Given the description of an element on the screen output the (x, y) to click on. 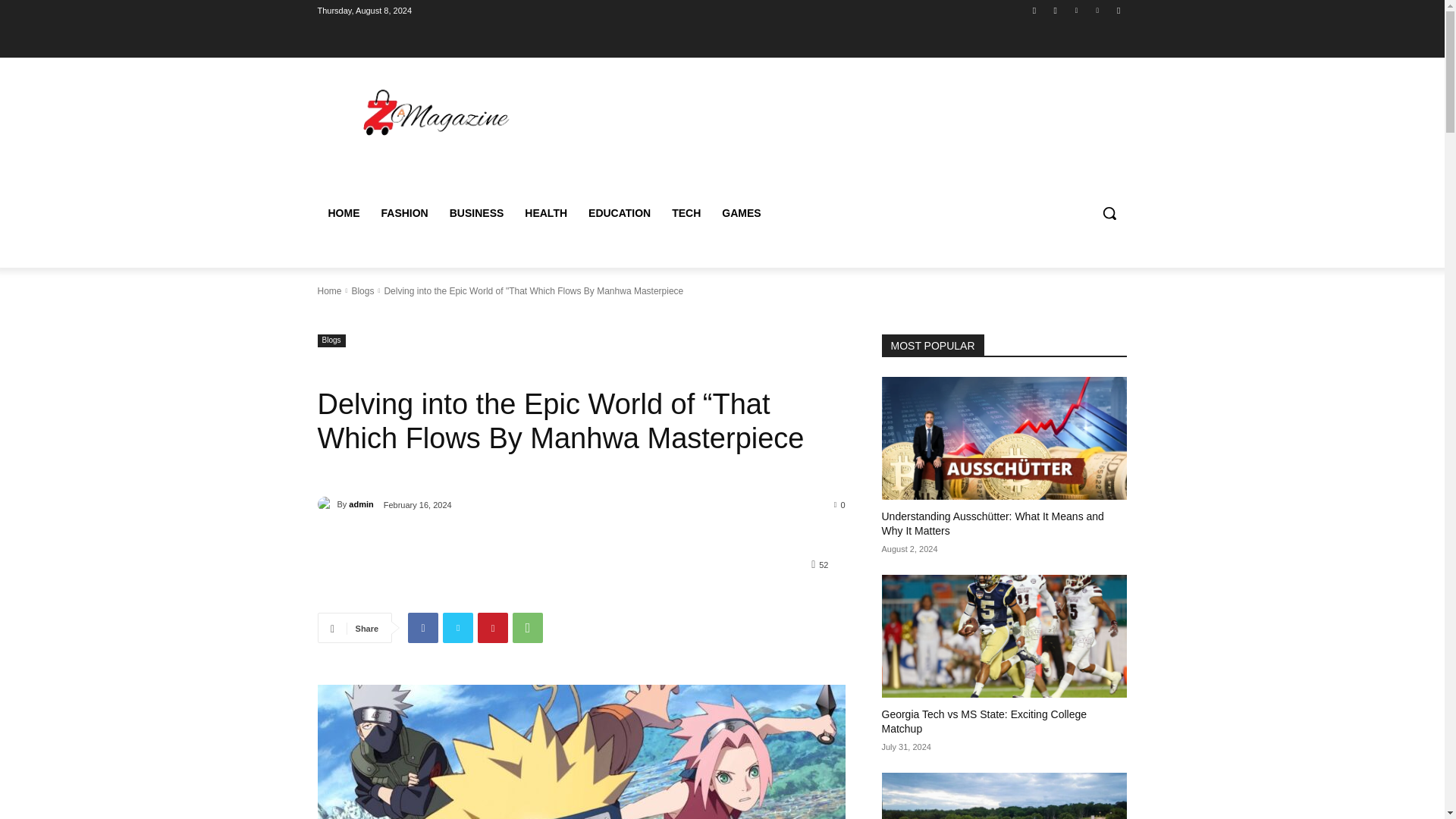
Vimeo (1097, 9)
GAMES (741, 212)
EDUCATION (619, 212)
admin (326, 503)
Twitter (1075, 9)
HOME (343, 212)
Pinterest (492, 627)
Youtube (1117, 9)
Blogs (331, 340)
BUSINESS (477, 212)
